Given the description of an element on the screen output the (x, y) to click on. 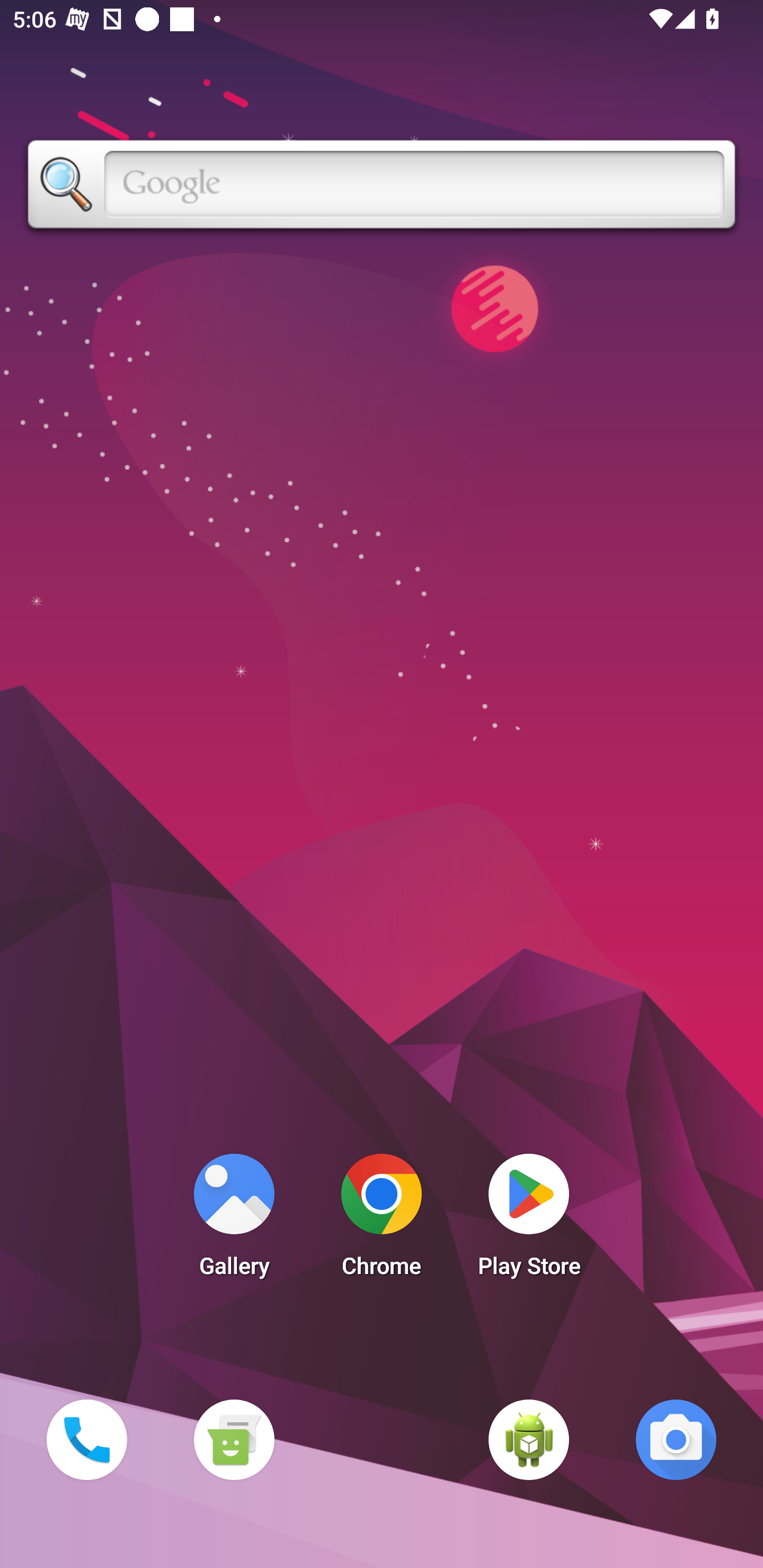
Gallery (233, 1220)
Chrome (381, 1220)
Play Store (528, 1220)
Phone (86, 1439)
Messaging (233, 1439)
WebView Browser Tester (528, 1439)
Camera (676, 1439)
